Given the description of an element on the screen output the (x, y) to click on. 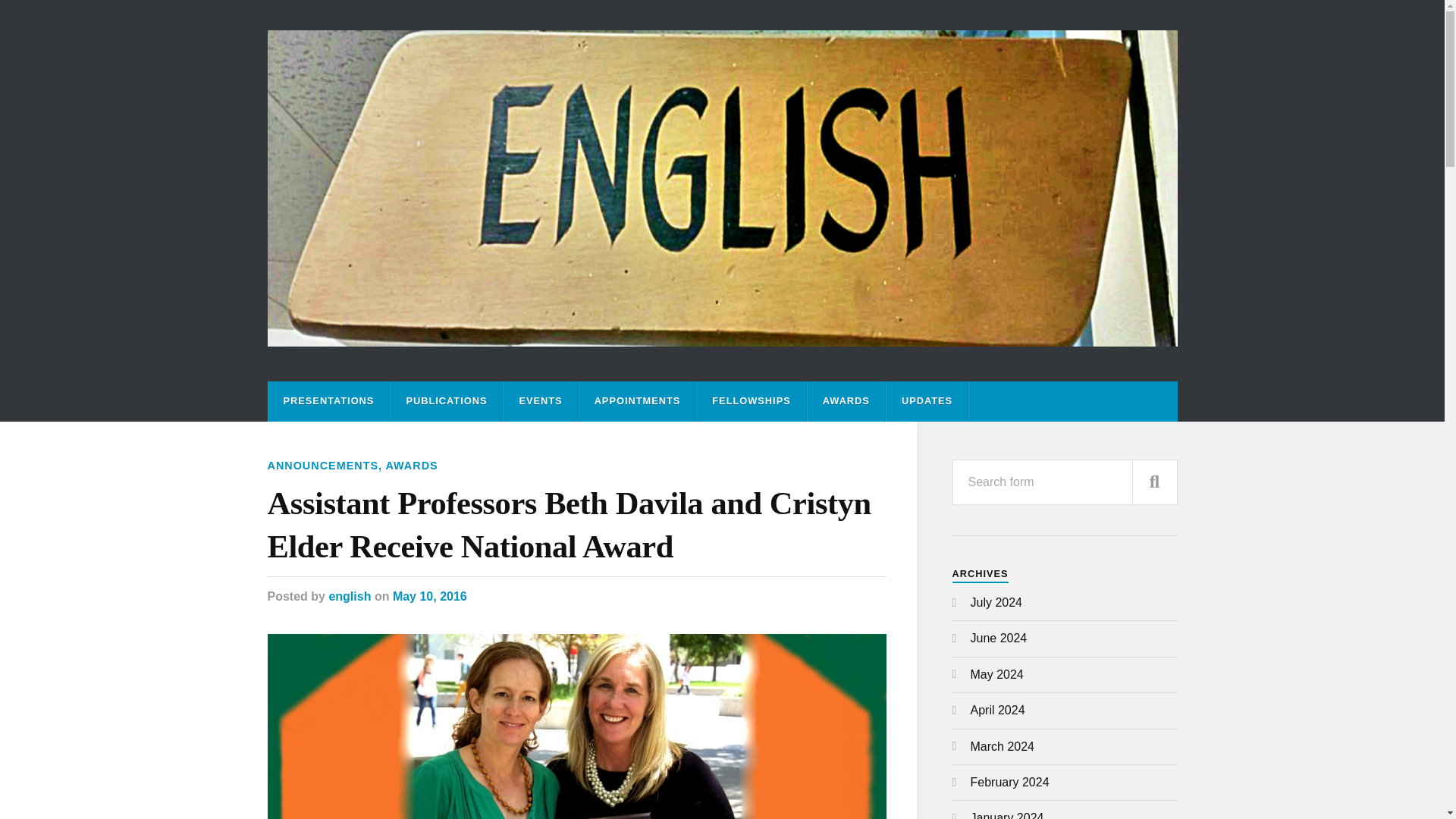
EVENTS (539, 401)
UPDATES (927, 401)
PRESENTATIONS (328, 401)
March 2024 (1003, 746)
July 2024 (997, 602)
PUBLICATIONS (446, 401)
May 2024 (997, 674)
January 2024 (1007, 815)
APPOINTMENTS (637, 401)
May 10, 2016 (430, 595)
February 2024 (1010, 781)
ANNOUNCEMENTS (322, 465)
April 2024 (998, 709)
June 2024 (999, 637)
english (350, 595)
